Given the description of an element on the screen output the (x, y) to click on. 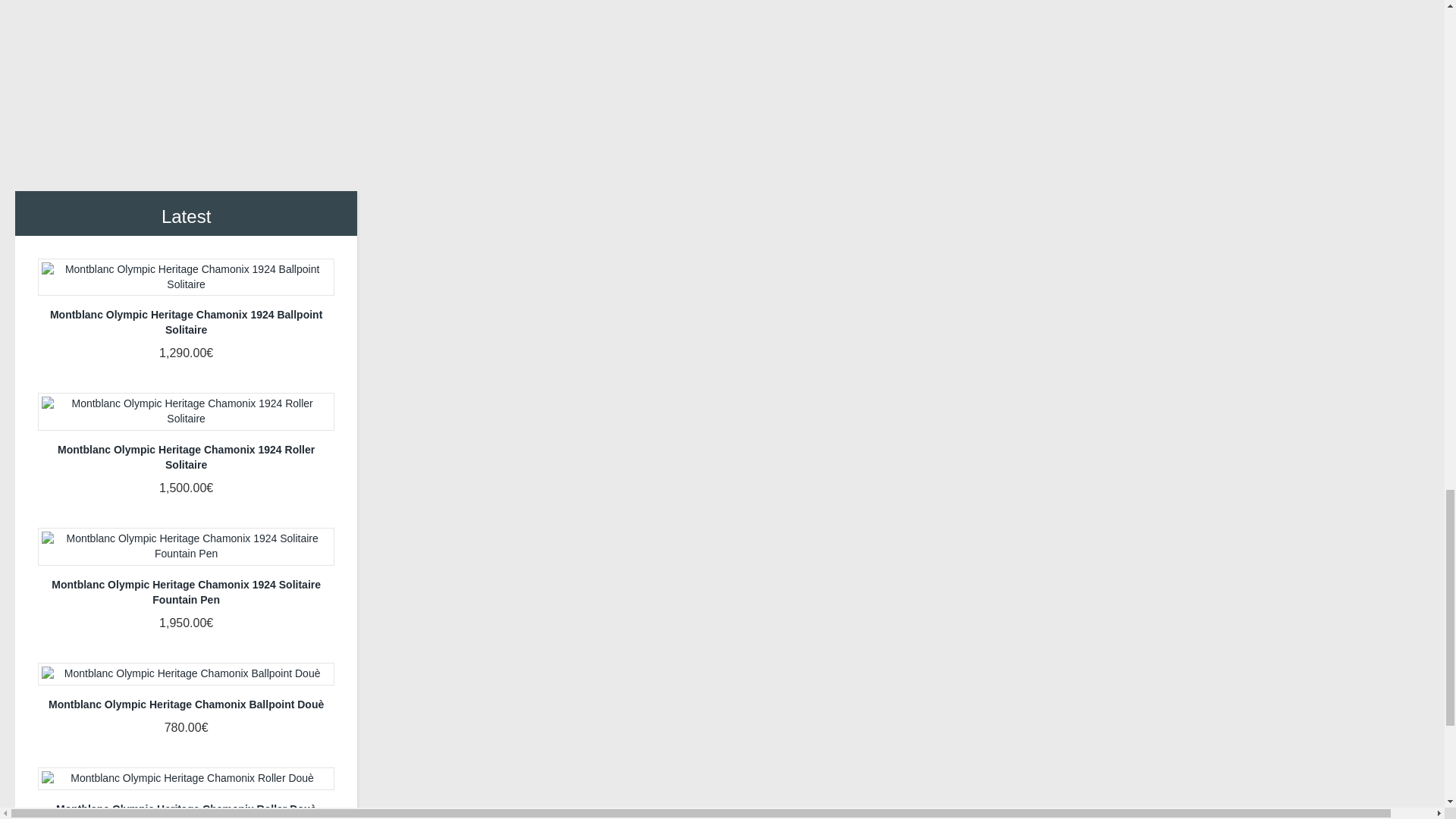
Montblanc Olympic Heritage Chamonix 1924 Ballpoint Solitaire (185, 277)
